Given the description of an element on the screen output the (x, y) to click on. 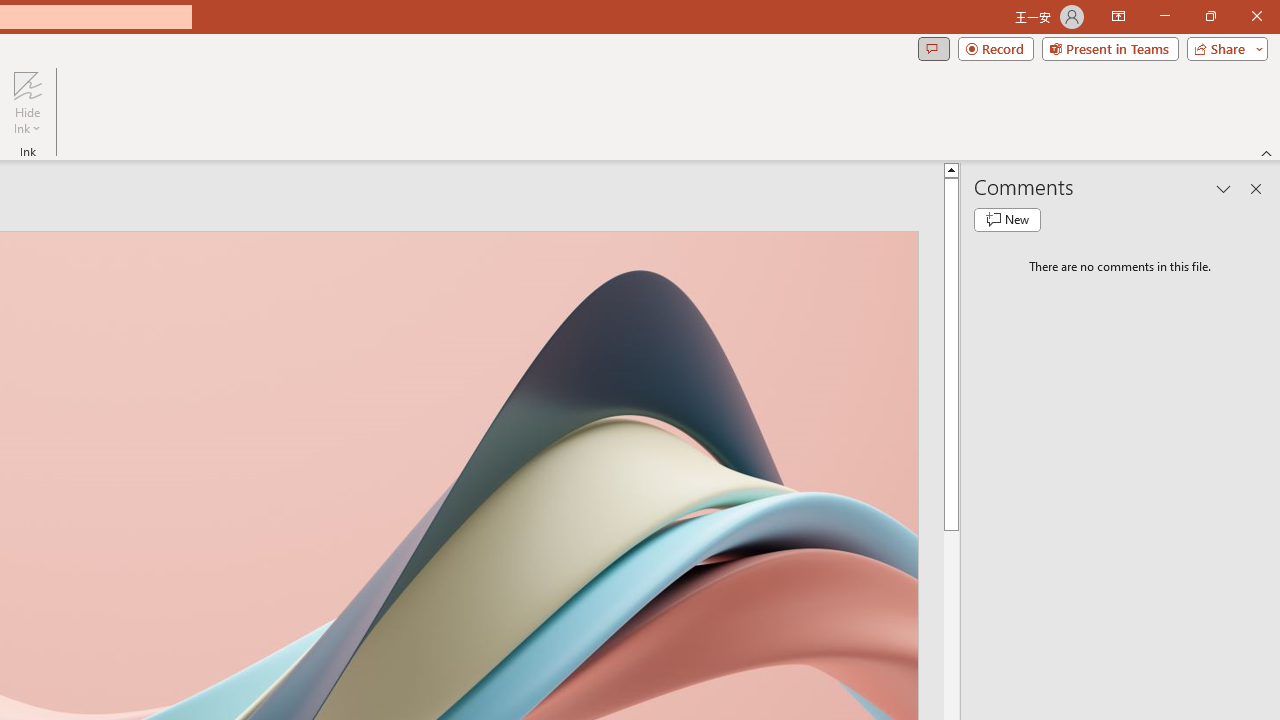
New comment (1007, 219)
Hide Ink (27, 102)
Hide Ink (27, 84)
